Given the description of an element on the screen output the (x, y) to click on. 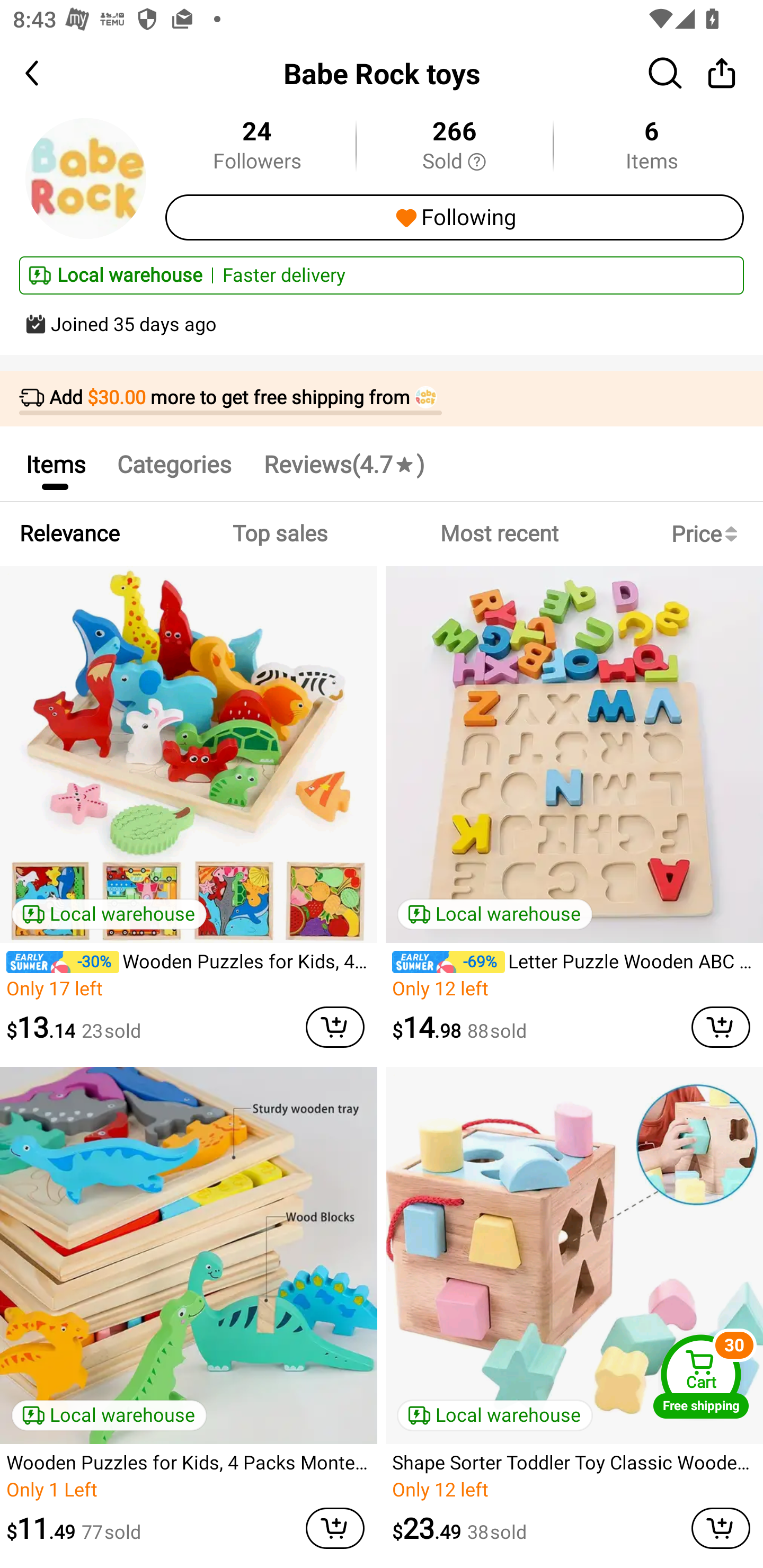
back (47, 72)
Babe Rock toys (381, 72)
share (721, 72)
Sold (453, 161)
Local warehouse Faster delivery (381, 275)
 Add $30.00 more to get free shipping from  (381, 398)
Items (55, 463)
Categories (174, 463)
Reviews(4.7 ) (343, 463)
Relevance (69, 533)
Top sales (279, 533)
Most recent (498, 533)
Price (707, 533)
Cart Free shipping Cart (701, 1375)
